Given the description of an element on the screen output the (x, y) to click on. 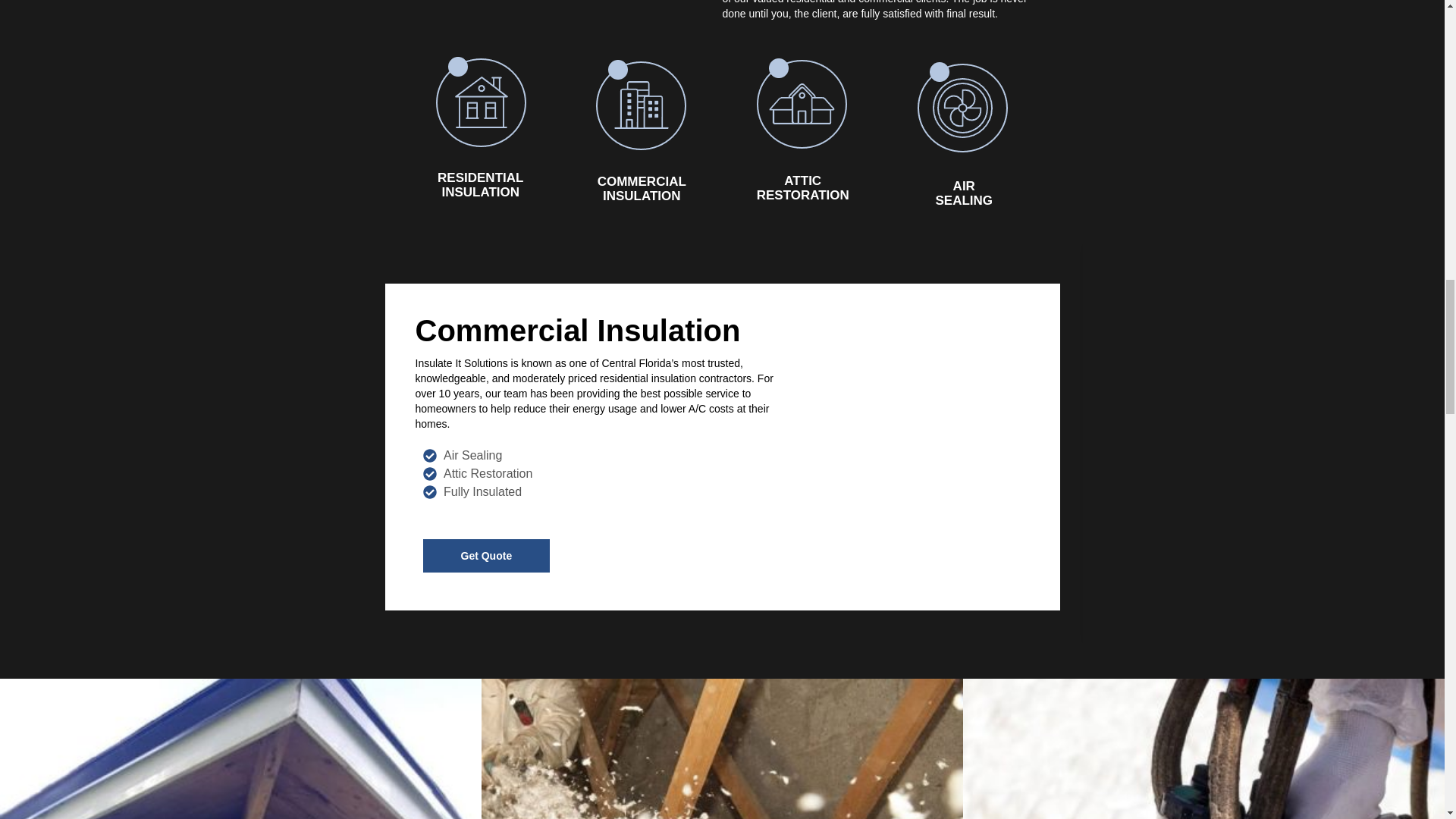
Get Quote (486, 555)
